Given the description of an element on the screen output the (x, y) to click on. 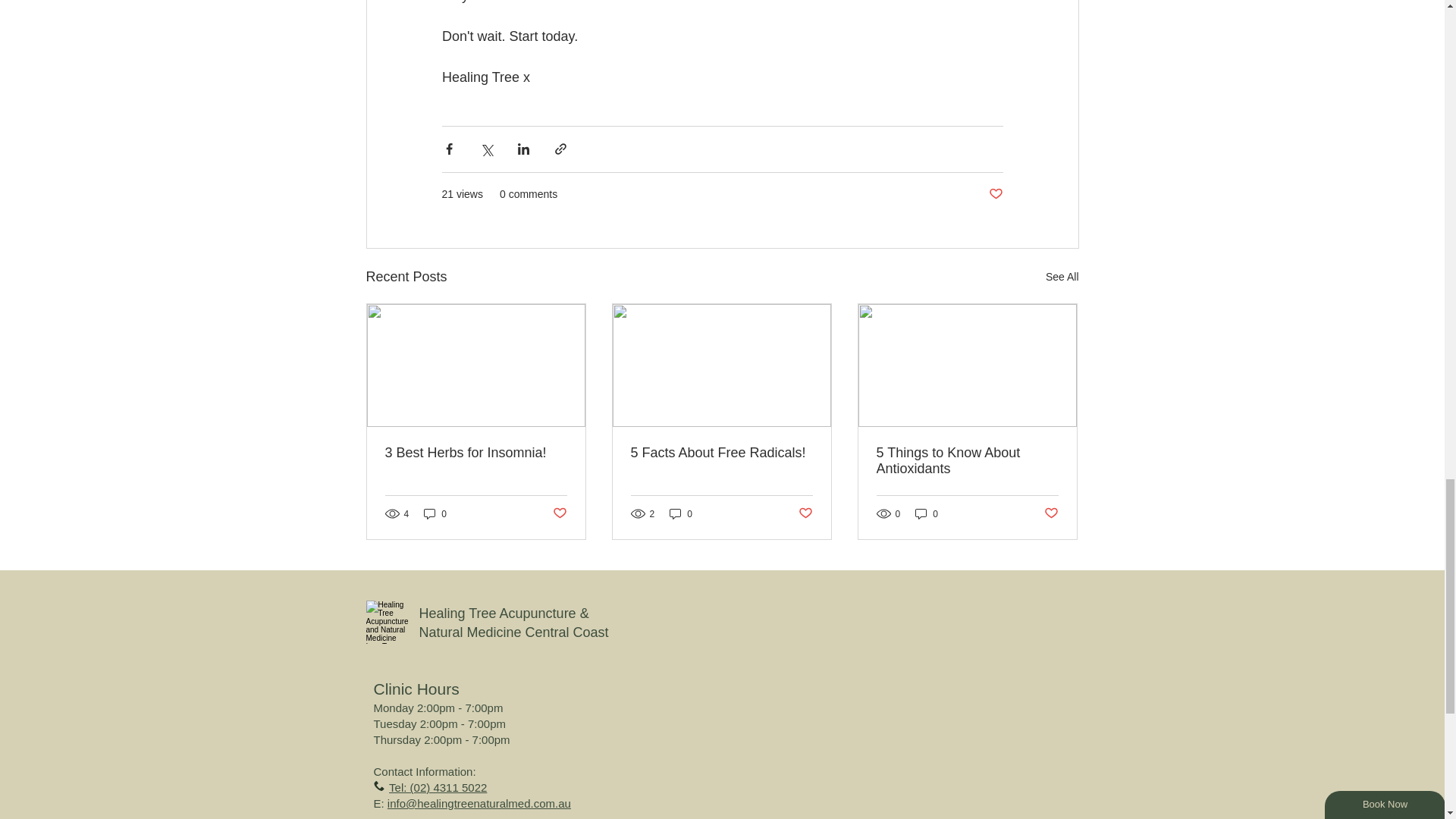
0 (681, 513)
Post not marked as liked (995, 194)
0 (435, 513)
Post not marked as liked (558, 513)
See All (1061, 277)
3 Best Herbs for Insomnia! (476, 453)
Post not marked as liked (804, 513)
5 Facts About Free Radicals! (721, 453)
